Given the description of an element on the screen output the (x, y) to click on. 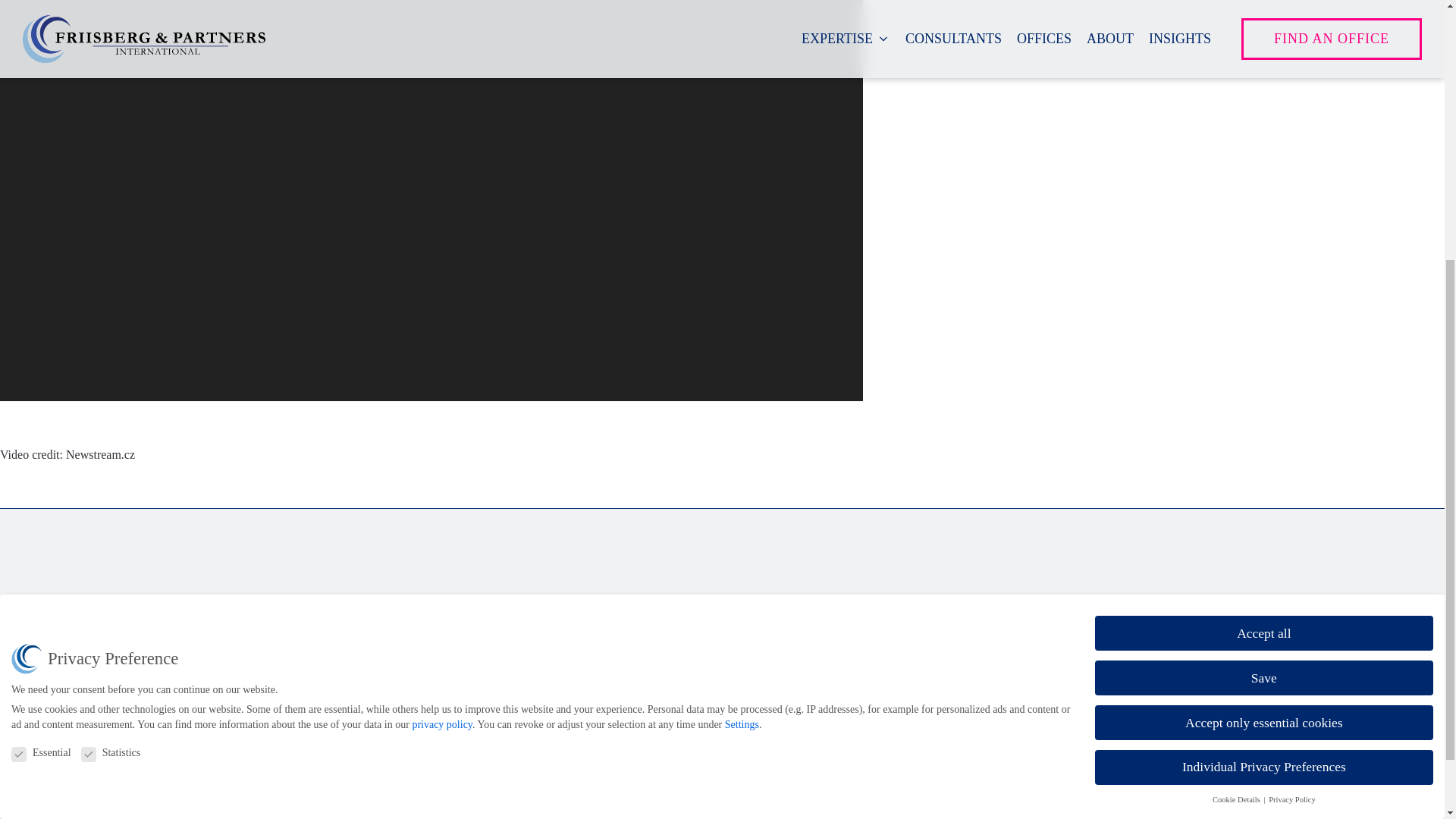
Management Consulting (684, 673)
About (639, 754)
Save (1263, 270)
Accept all (1263, 225)
Consultants (653, 700)
Settings (741, 317)
privacy policy (441, 317)
Privacy Policy (348, 747)
Terms (327, 773)
Accept only essential cookies (1263, 315)
